Given the description of an element on the screen output the (x, y) to click on. 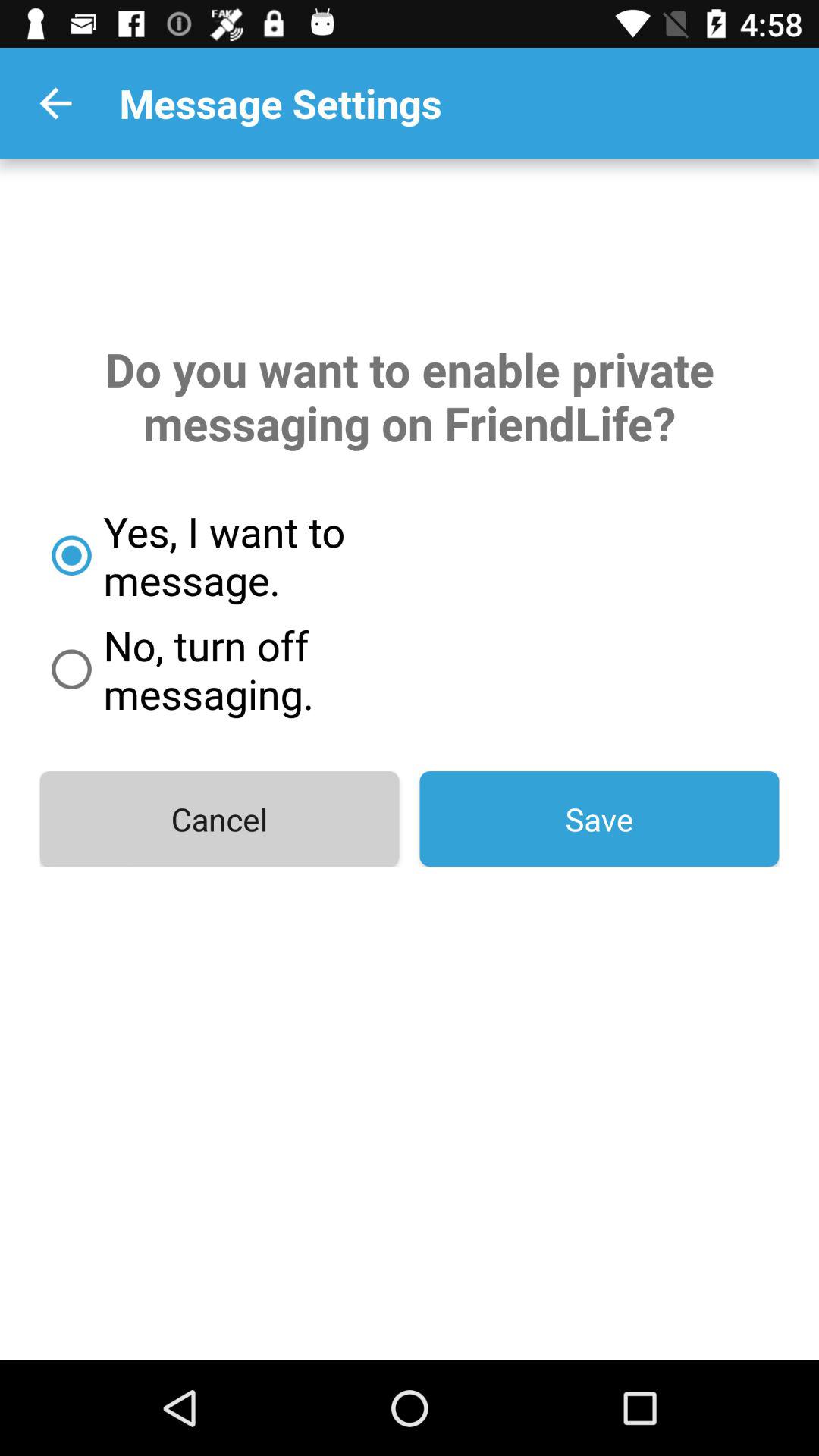
tap the icon to the left of the message settings app (55, 103)
